Given the description of an element on the screen output the (x, y) to click on. 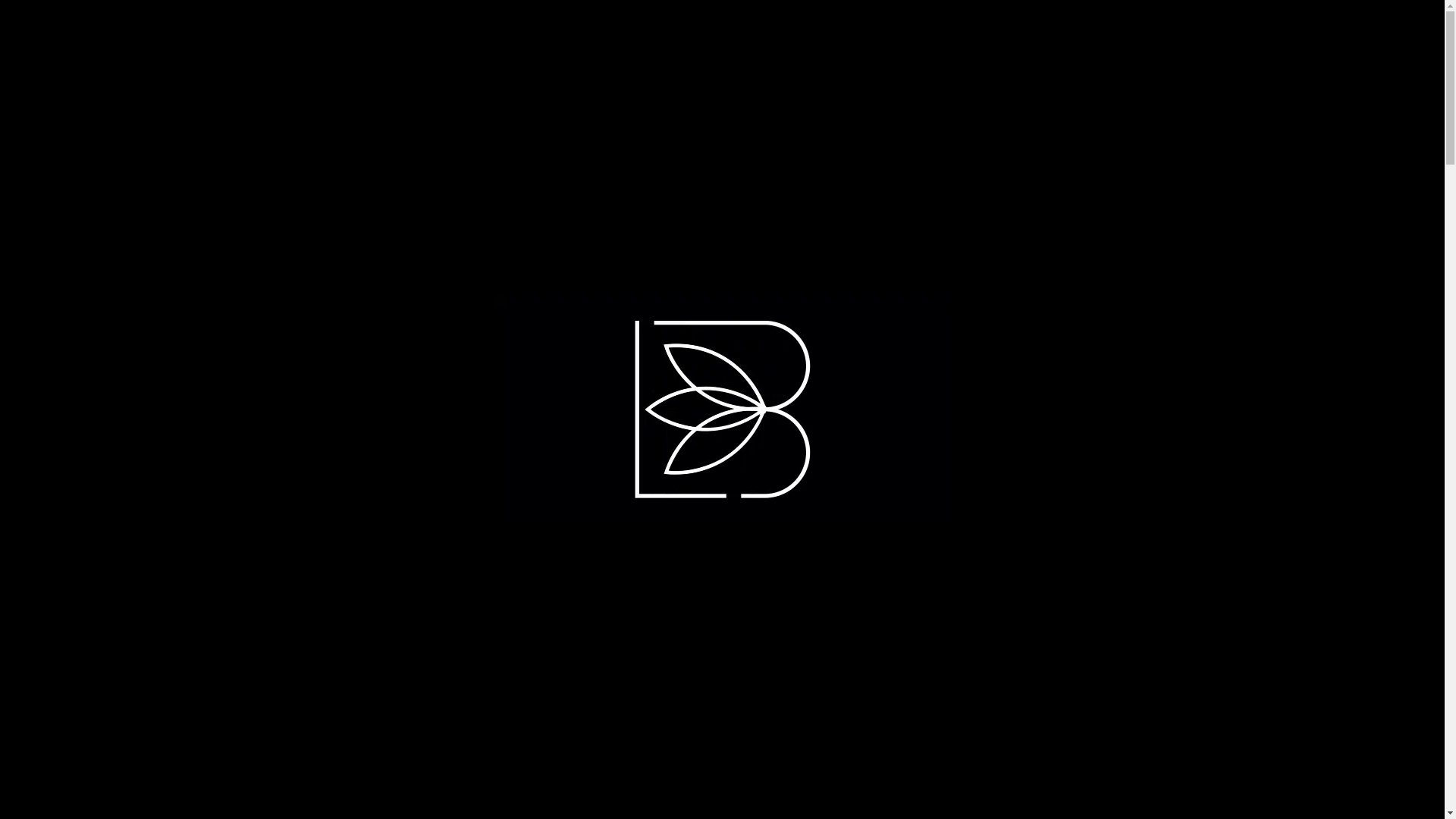
Featured Listings (290, 35)
Menu (187, 35)
Menu (197, 35)
Contact (1132, 35)
